Given the description of an element on the screen output the (x, y) to click on. 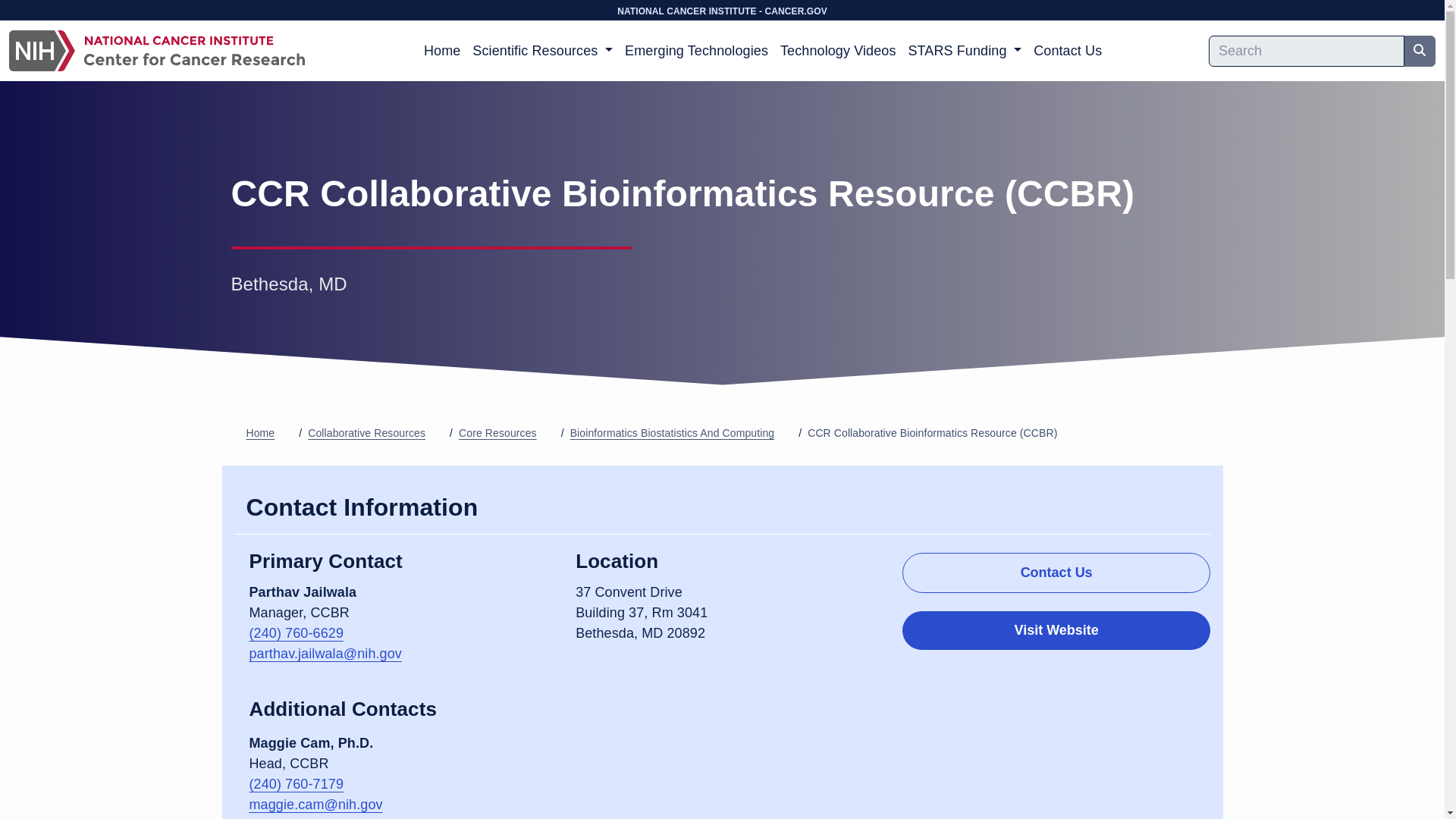
Technology Videos (837, 51)
Search (1419, 50)
Bioinformatics Biostatistics And Computing (672, 432)
Visit Website (1056, 630)
Scientific Resources (541, 51)
Emerging Technologies (696, 51)
Home (441, 51)
Go to National Cancer Institute (722, 10)
Technology Videos (837, 51)
Home (260, 432)
